Given the description of an element on the screen output the (x, y) to click on. 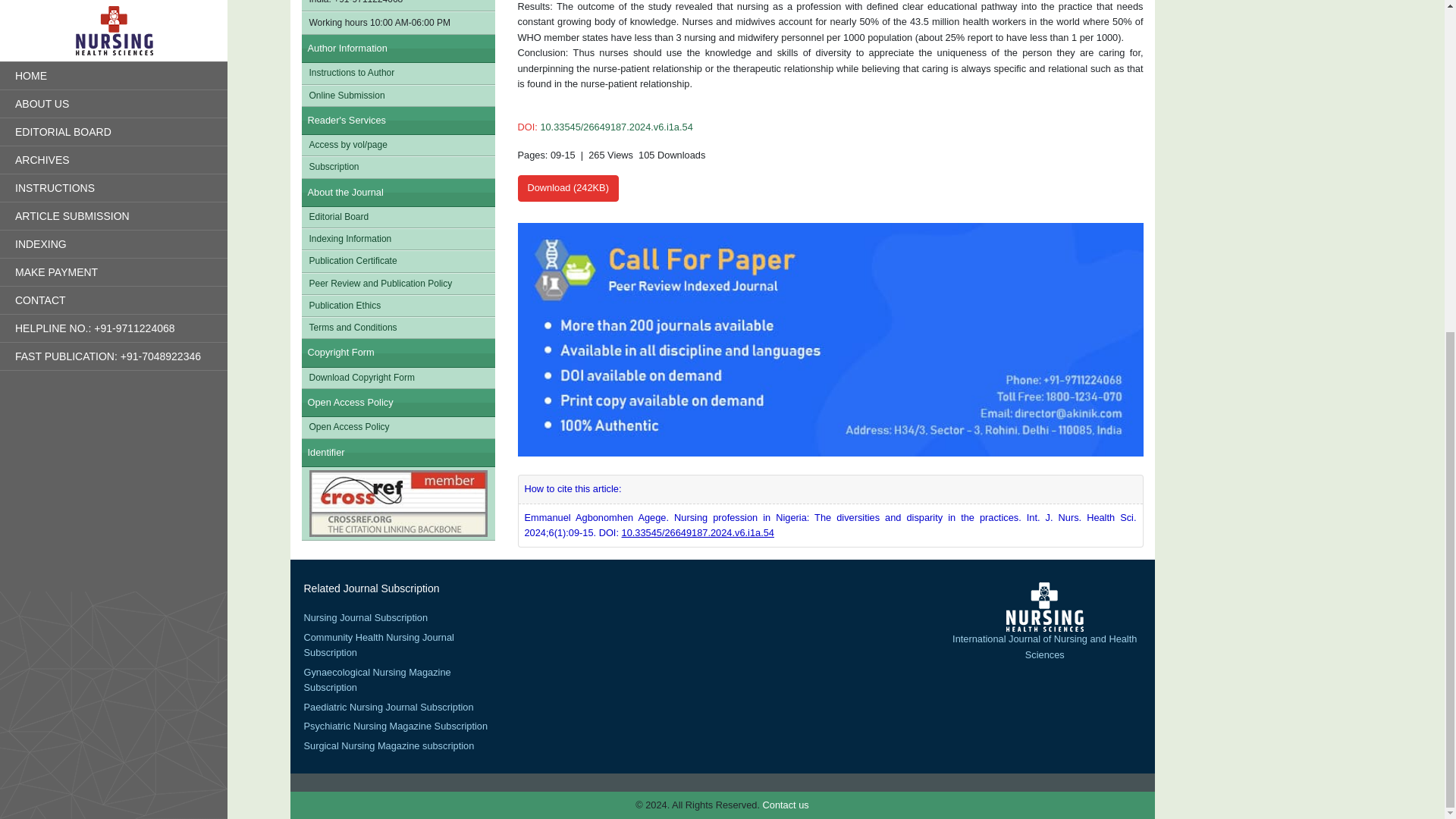
Indexing Information (398, 239)
Subscription (398, 167)
Download Copyright Form (398, 377)
Publication Ethics (398, 305)
Open Access Policy (398, 426)
Instructions to Author (398, 73)
Publication Certificate (398, 260)
Editorial Board (398, 217)
Peer Review and Publication Policy (398, 283)
Terms and Conditions (398, 327)
Online Submission (398, 95)
